Given the description of an element on the screen output the (x, y) to click on. 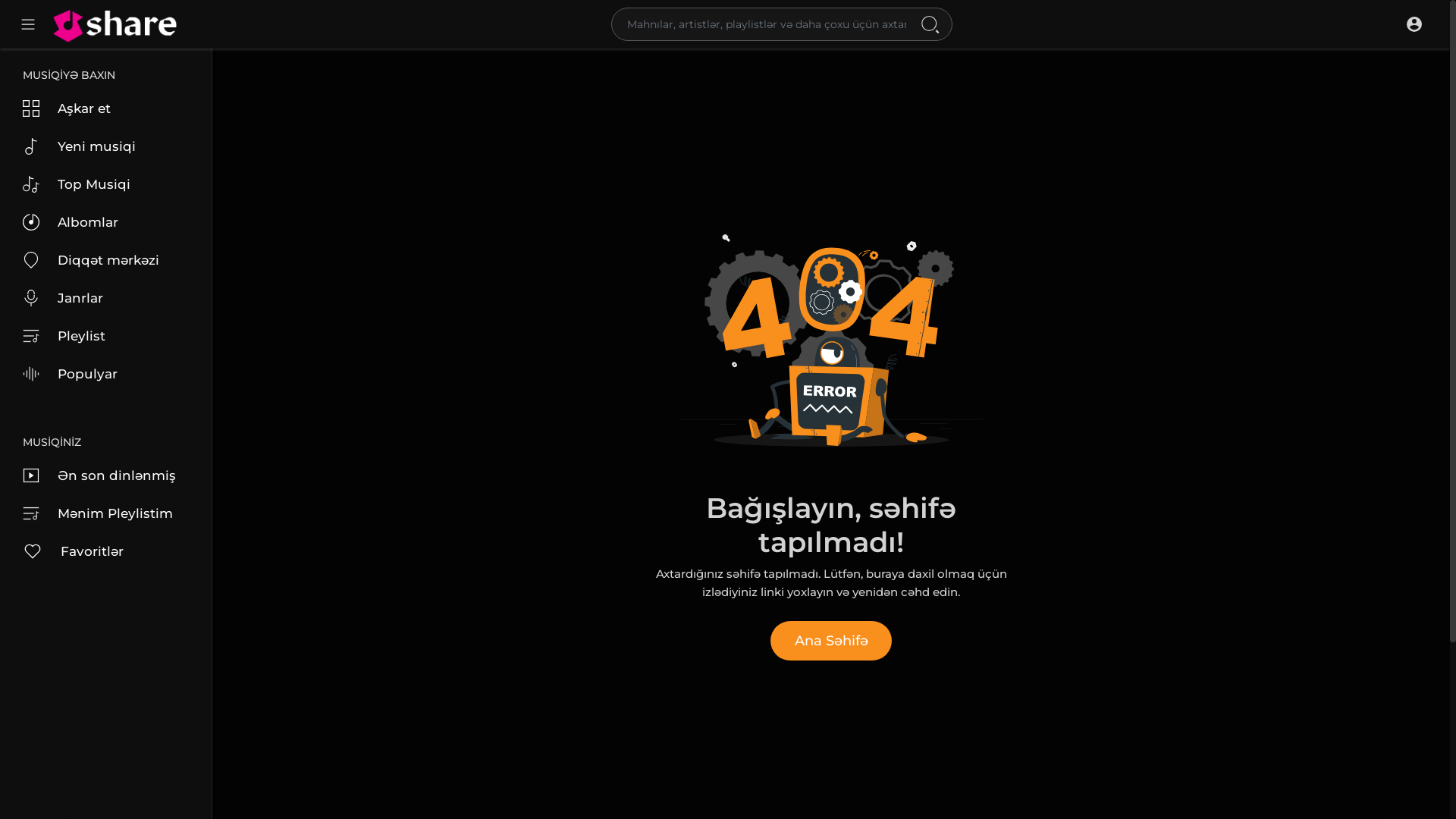
Populyar Element type: text (105, 373)
Yeni musiqi Element type: text (105, 146)
Pleylist Element type: text (105, 335)
Top Musiqi Element type: text (105, 184)
Janrlar Element type: text (105, 297)
Albomlar Element type: text (105, 222)
